Given the description of an element on the screen output the (x, y) to click on. 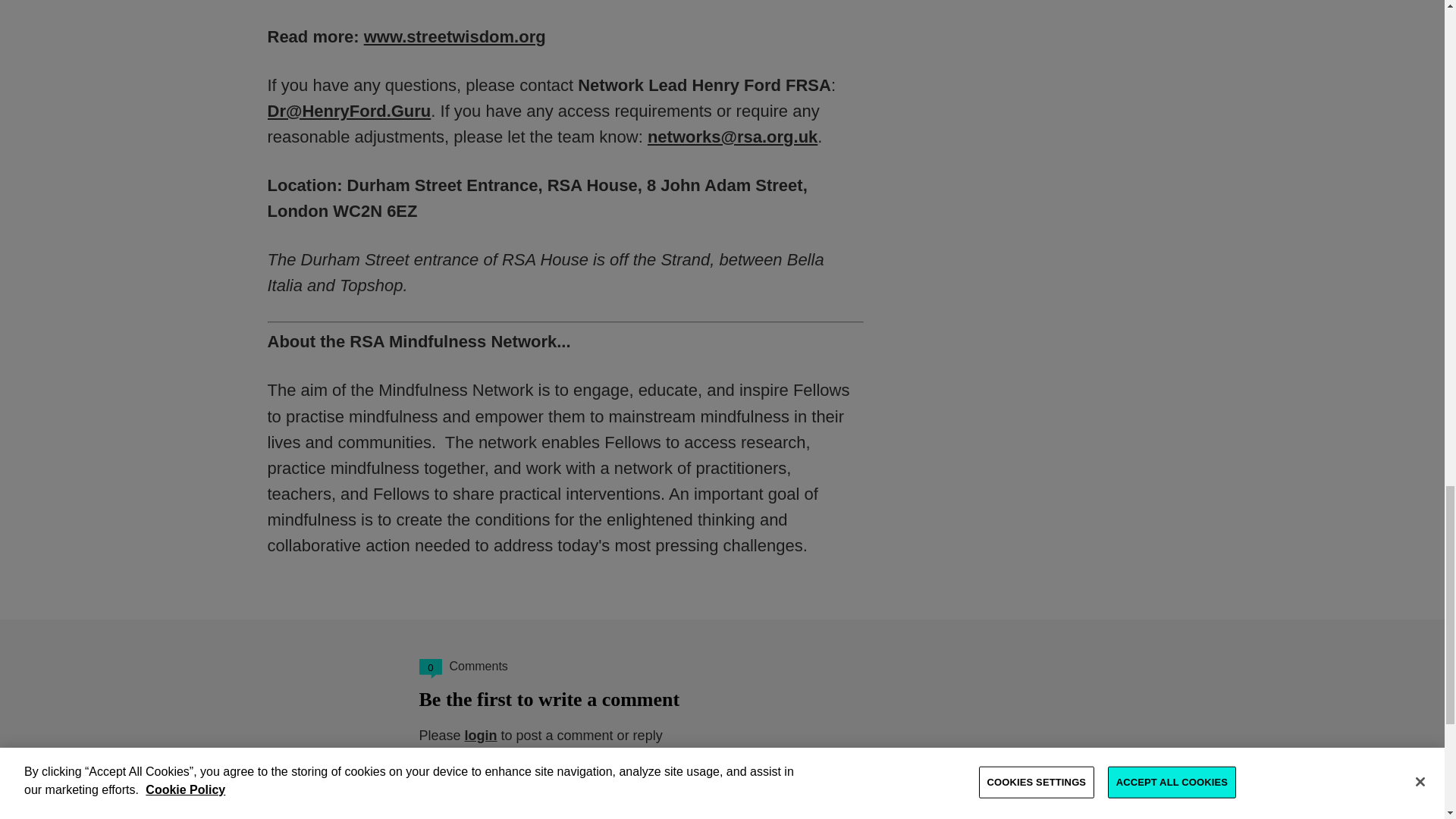
0 (430, 668)
